Given the description of an element on the screen output the (x, y) to click on. 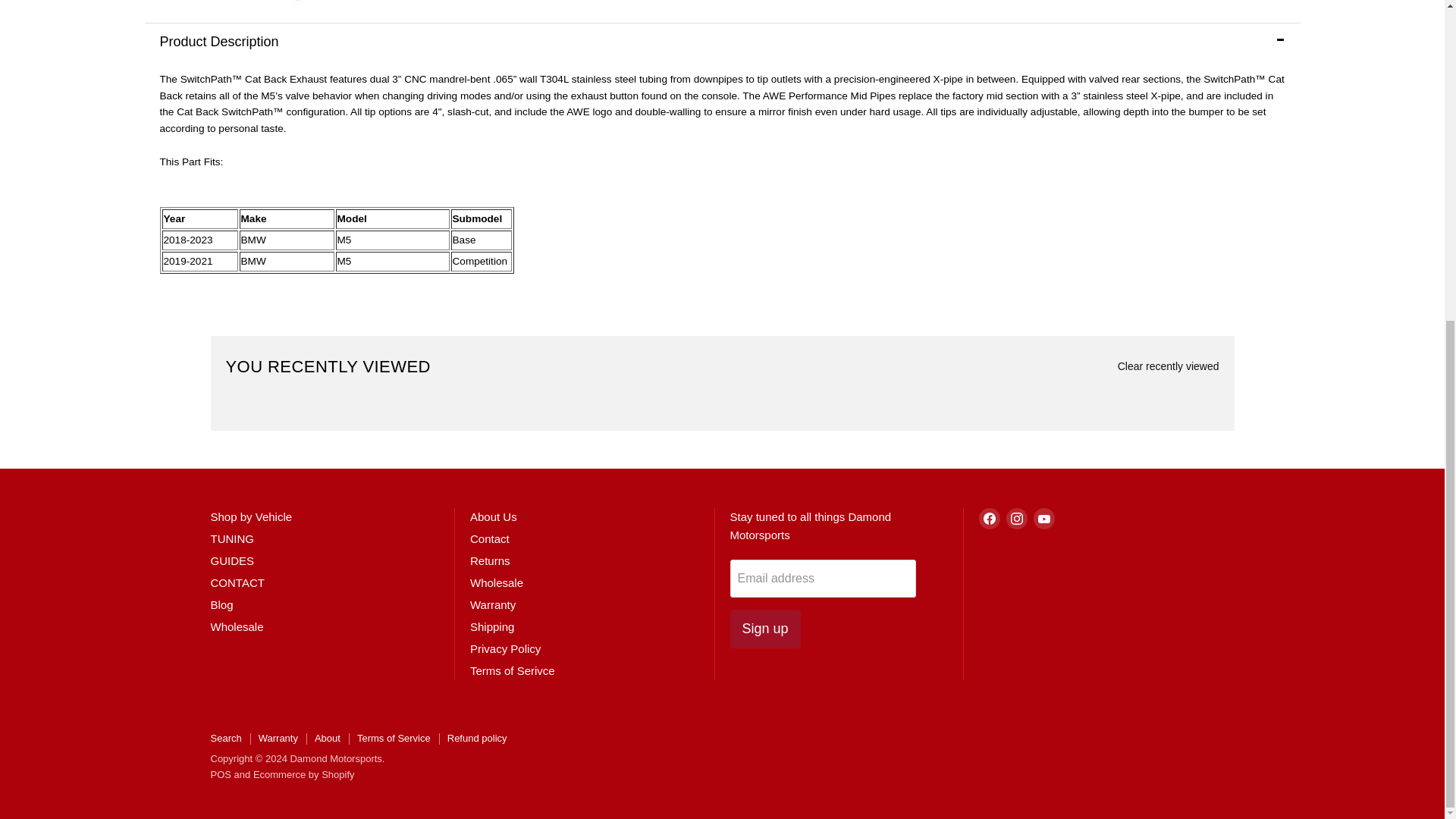
Facebook (988, 518)
Instagram (1016, 518)
YouTube (1043, 518)
